Given the description of an element on the screen output the (x, y) to click on. 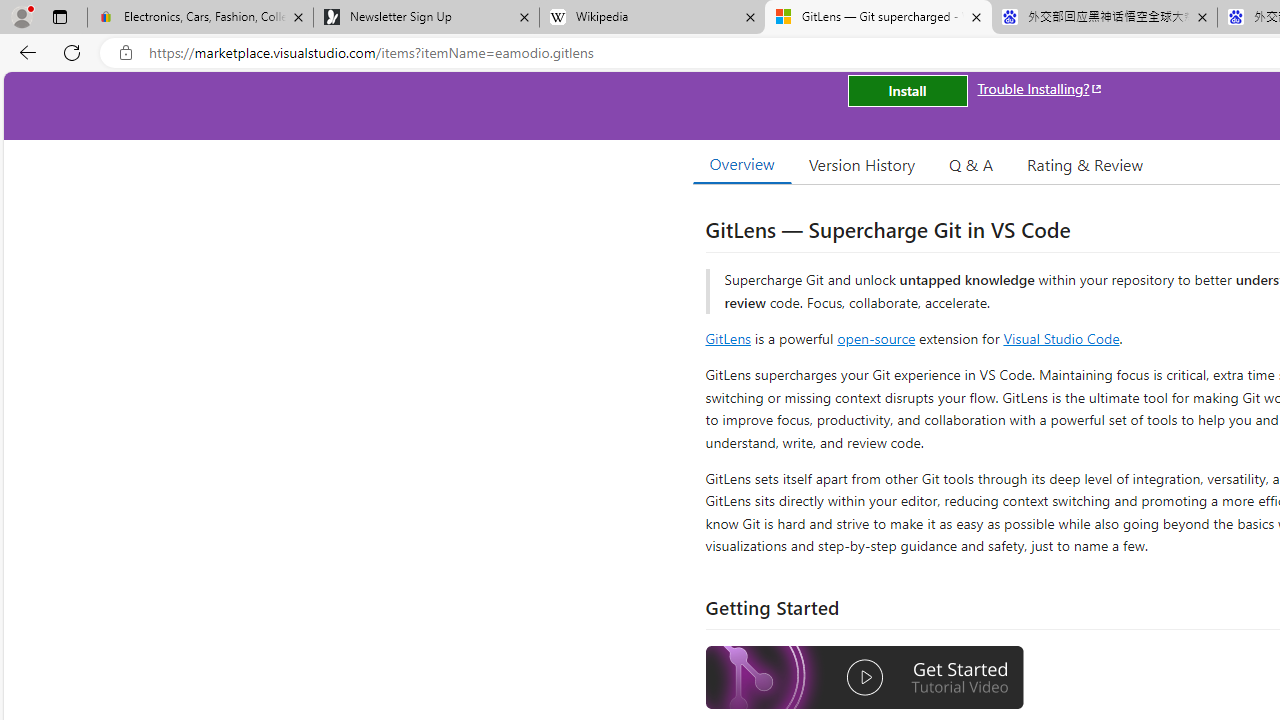
open-source (876, 337)
Rating & Review (1084, 164)
GitLens (728, 337)
Install (907, 90)
